Given the description of an element on the screen output the (x, y) to click on. 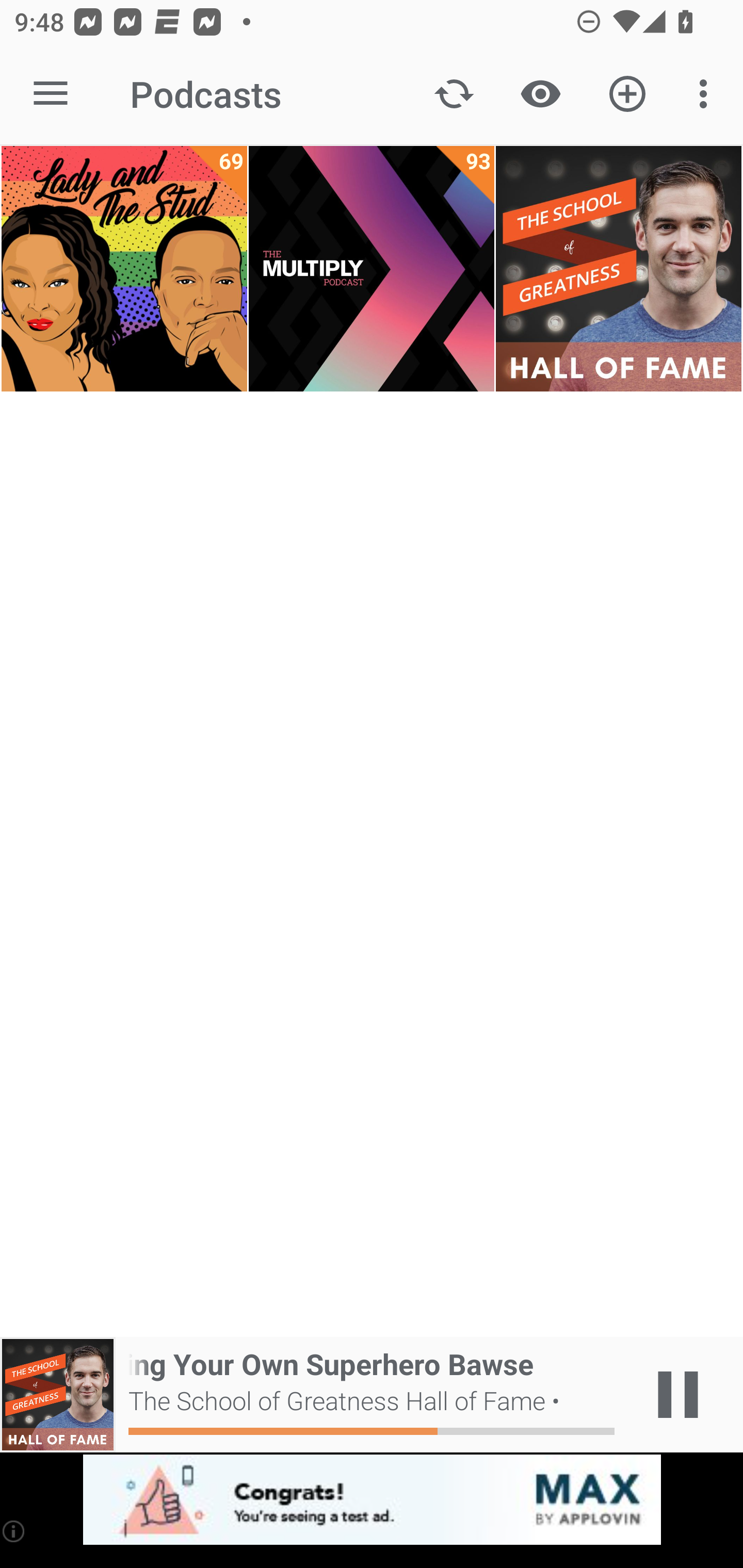
Open navigation sidebar (50, 93)
Update (453, 93)
Show / Hide played content (540, 93)
Add new Podcast (626, 93)
More options (706, 93)
Lady and The Stud 69 (124, 268)
The Multiply Podcast 93 (371, 268)
The School of Greatness Hall of Fame (618, 268)
Play / Pause (677, 1394)
app-monetization (371, 1500)
(i) (14, 1531)
